Given the description of an element on the screen output the (x, y) to click on. 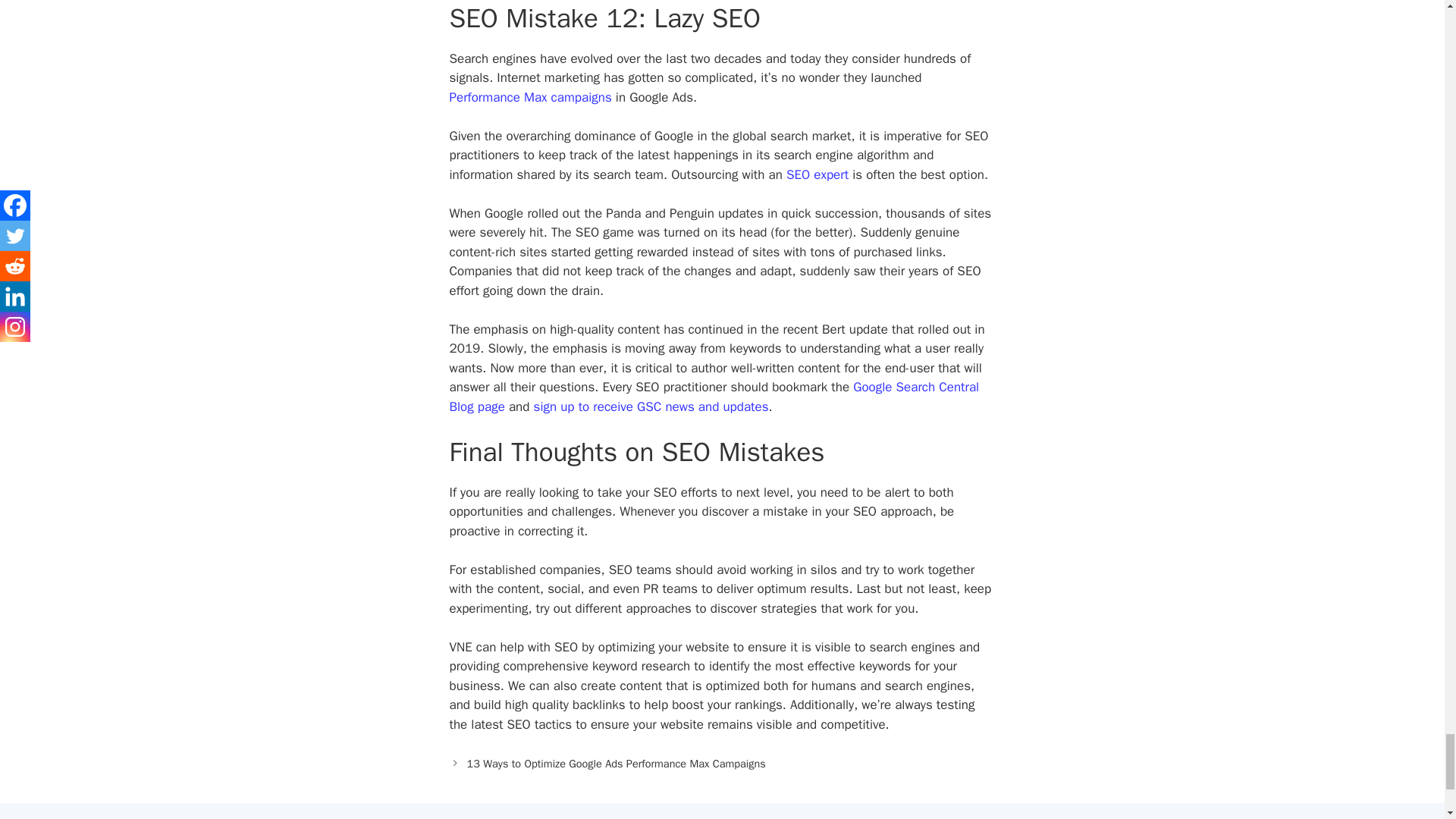
Google Search Central Blog page (713, 396)
13 Ways to Optimize Google Ads Performance Max Campaigns (616, 763)
Performance Max campaigns (529, 97)
sign up to receive GSC news and updates (651, 406)
SEO expert (817, 174)
